Given the description of an element on the screen output the (x, y) to click on. 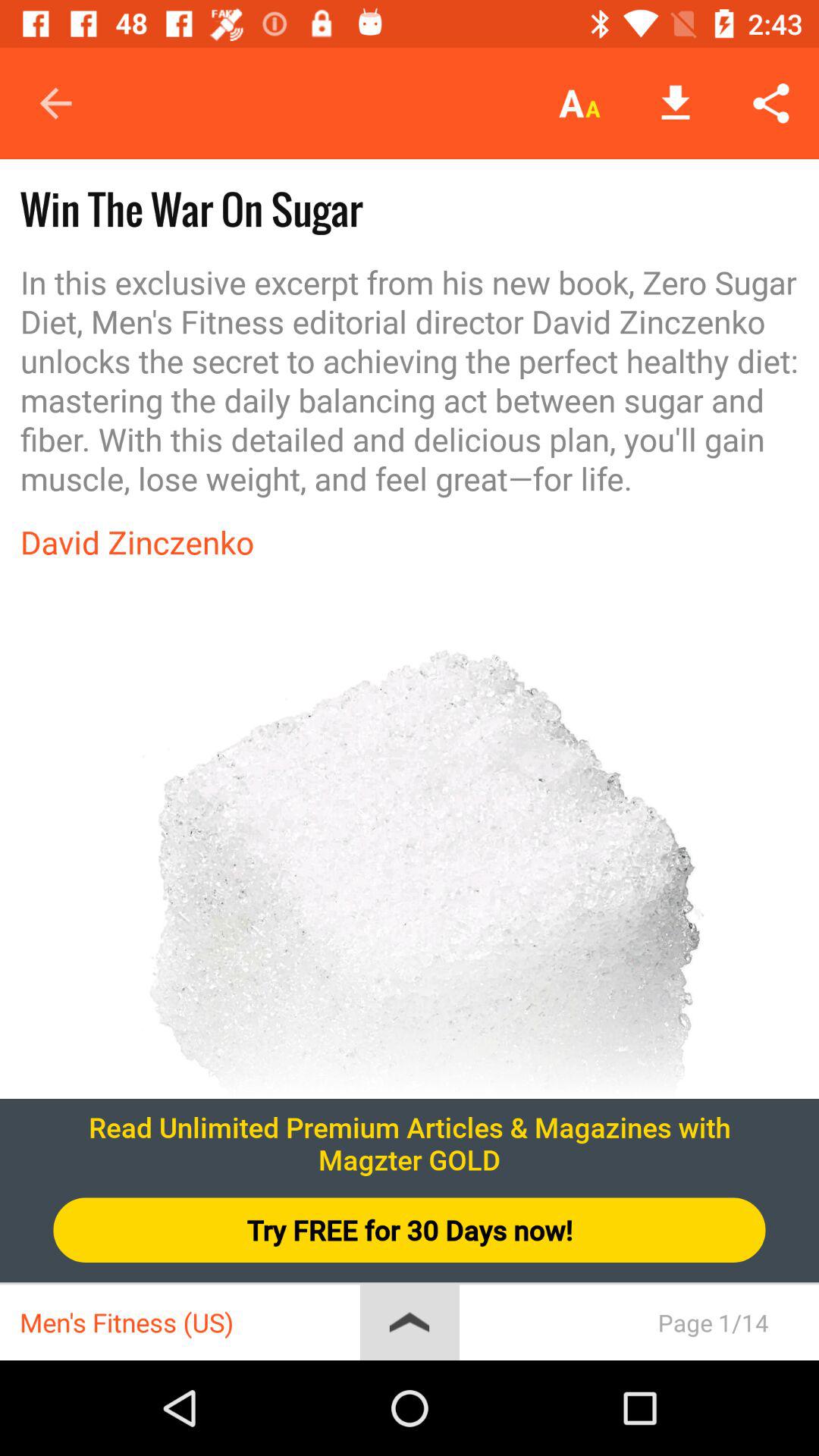
select the icon above in this exclusive icon (675, 103)
